Given the description of an element on the screen output the (x, y) to click on. 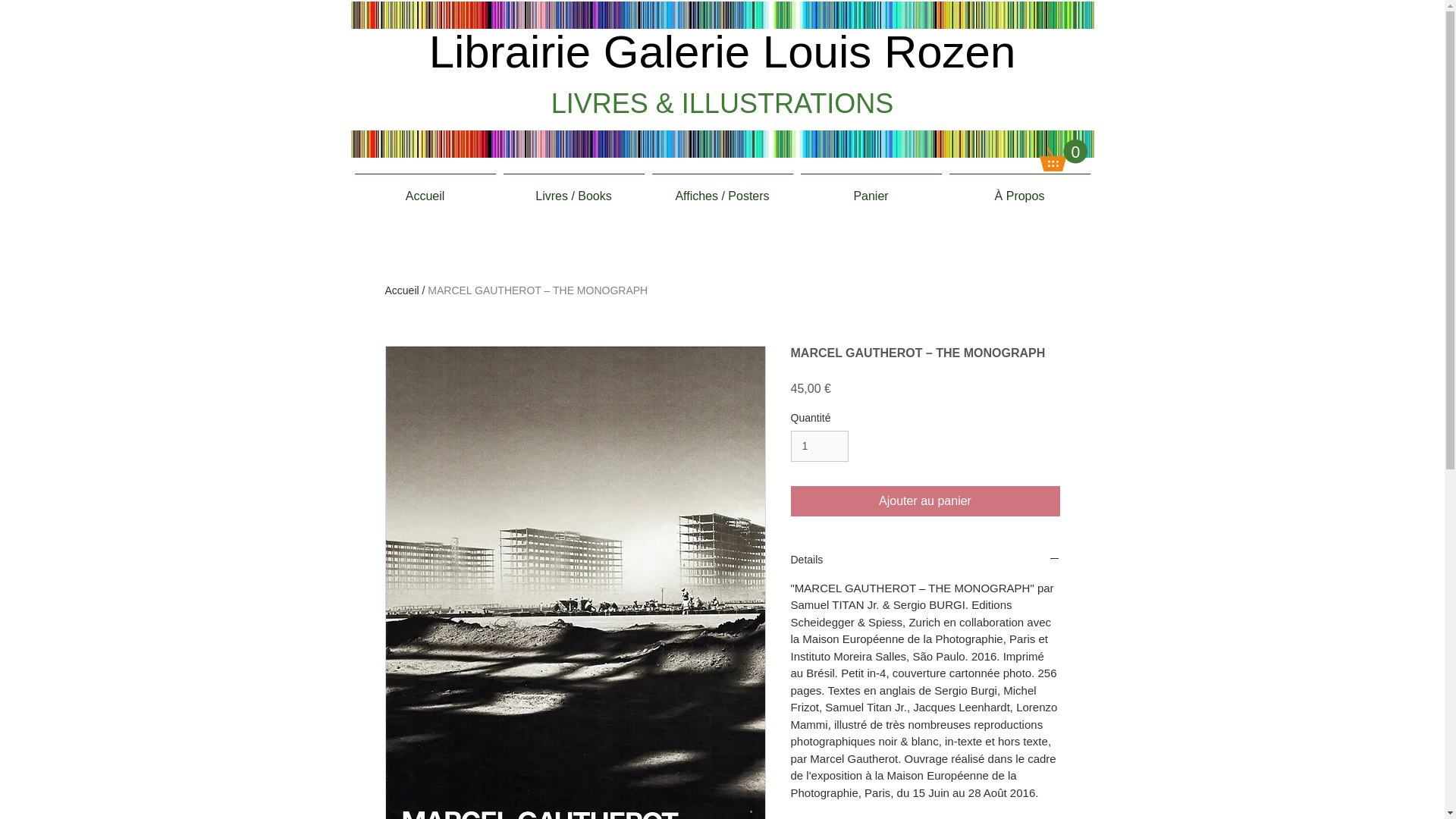
Accueil (424, 189)
Accueil (402, 290)
0 (1062, 155)
0 (1062, 155)
1 (818, 445)
Ajouter au panier (924, 501)
Panier (870, 189)
Site Search (1016, 117)
